Given the description of an element on the screen output the (x, y) to click on. 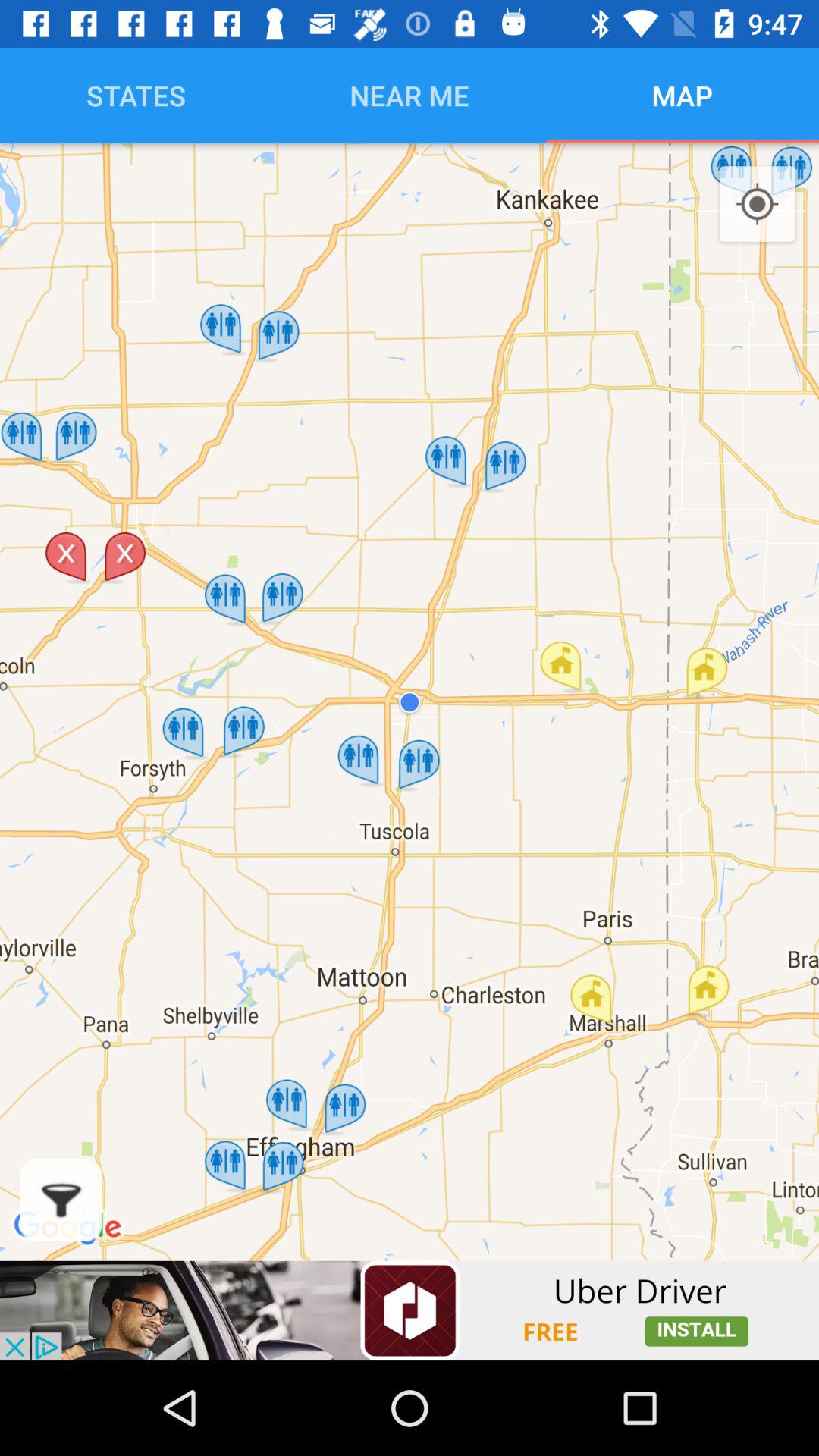
advertisement option (409, 1310)
